Given the description of an element on the screen output the (x, y) to click on. 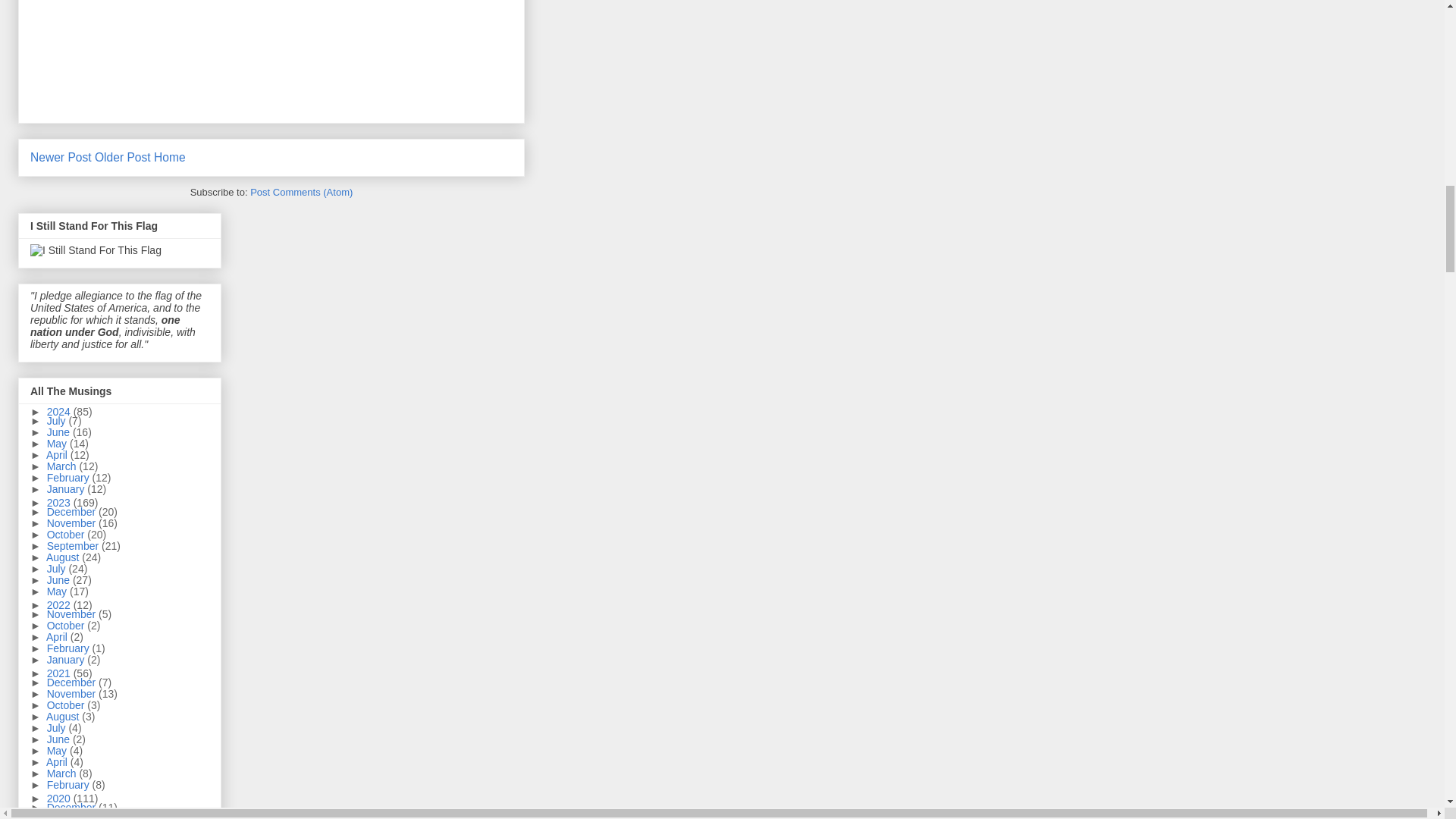
Newer Post (60, 156)
Older Post (122, 156)
